Given the description of an element on the screen output the (x, y) to click on. 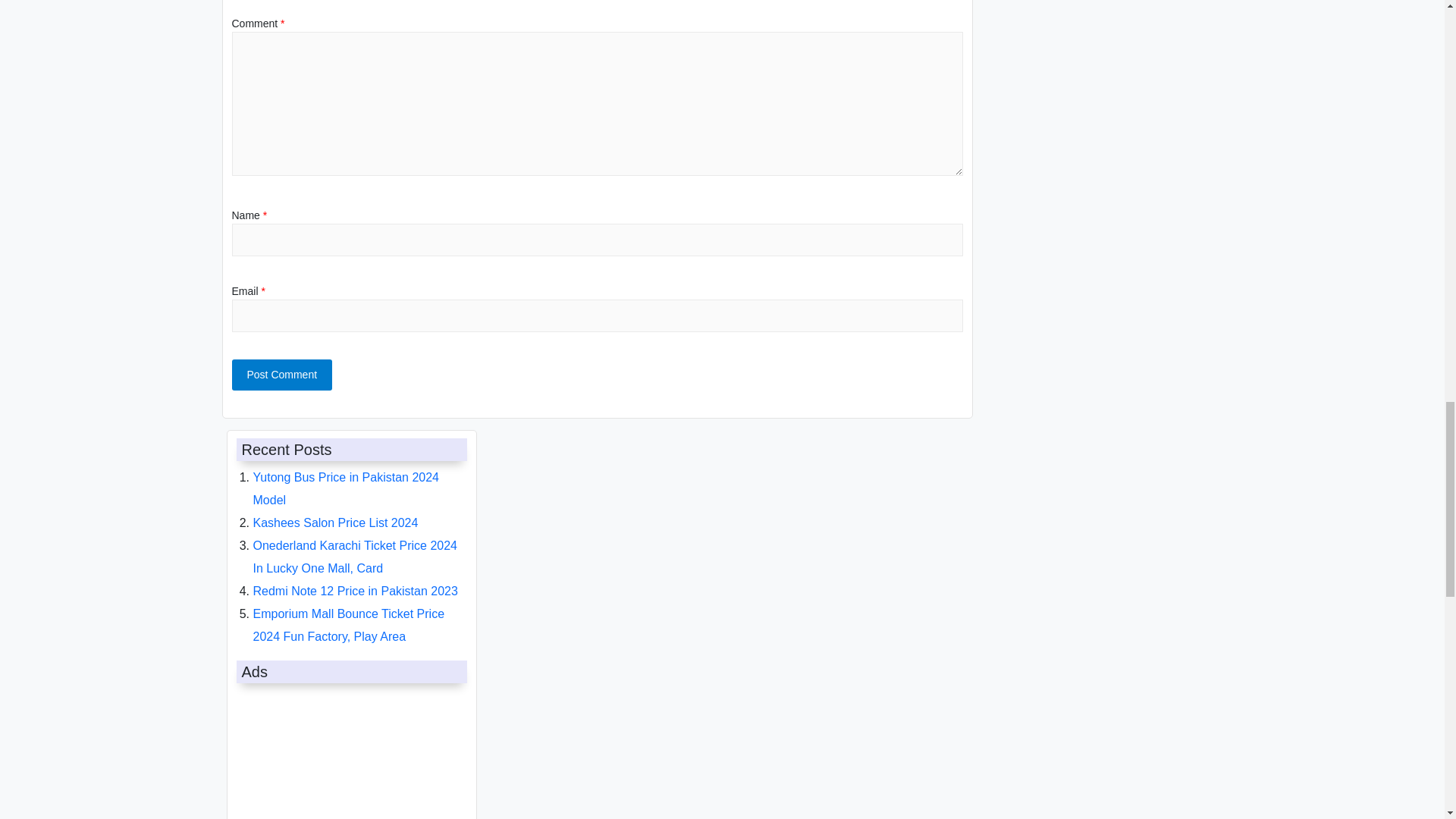
Advertisement (346, 753)
Post Comment (282, 374)
Post Comment (282, 374)
Kashees Salon Price List 2024 (336, 522)
Onederland Karachi Ticket Price 2024 In Lucky One Mall, Card (355, 556)
Redmi Note 12 Price in Pakistan 2023 (355, 590)
Yutong Bus Price in Pakistan 2024 Model (346, 488)
